Given the description of an element on the screen output the (x, y) to click on. 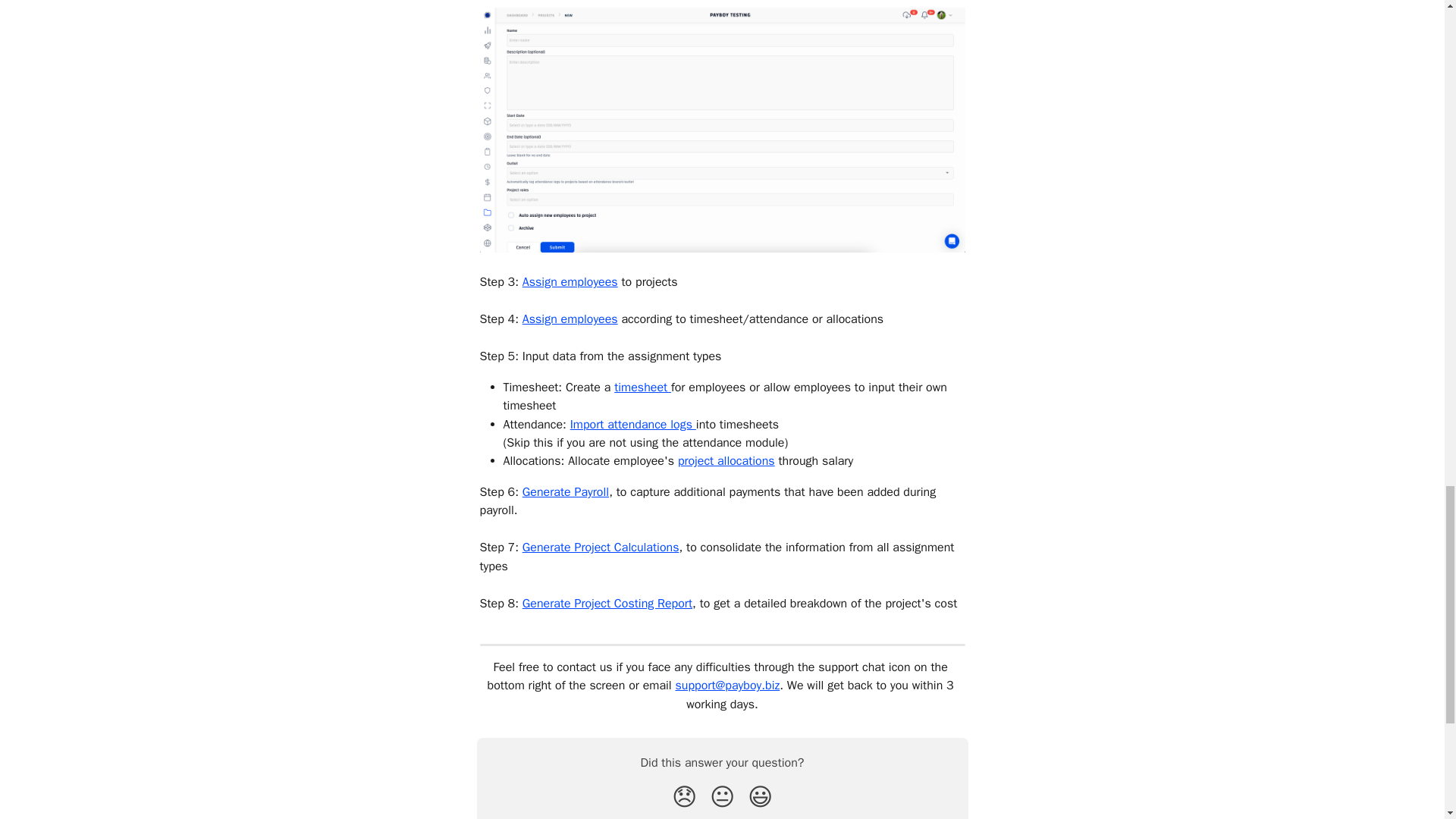
Generate Payroll (565, 491)
Assign employees (569, 281)
Import attendance logs (632, 424)
timesheet (642, 387)
Generate Project Costing Report (607, 603)
Assign employees (569, 319)
Generate Project Calculations (600, 547)
project allocations (726, 460)
